Given the description of an element on the screen output the (x, y) to click on. 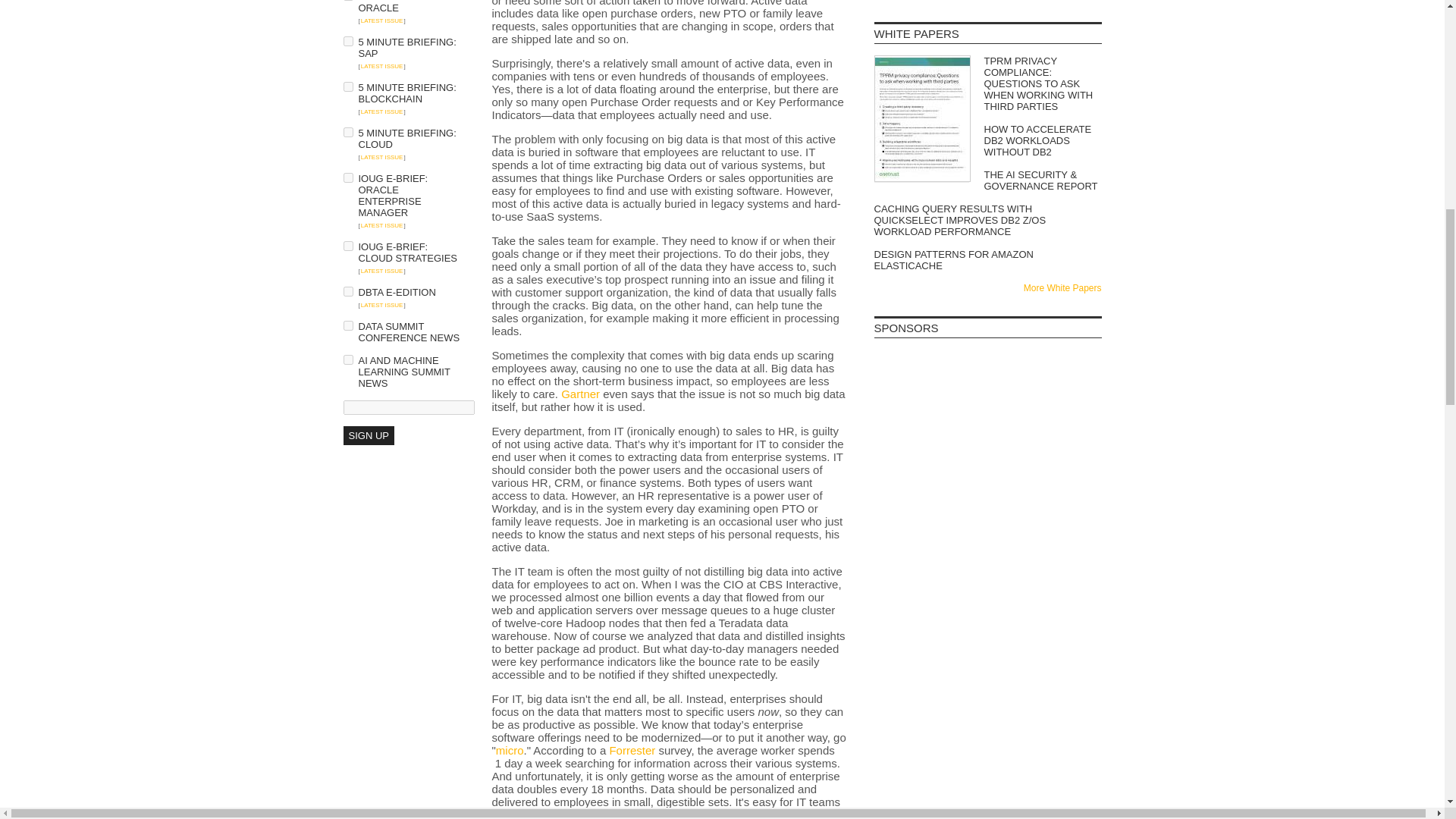
Design patterns for Amazon ElastiCache (986, 259)
on (347, 177)
on (347, 291)
on (347, 86)
on (347, 132)
How to Accelerate DB2 Workloads Without DB2 (986, 140)
Sign Up (367, 435)
on (347, 359)
on (347, 245)
on (347, 40)
on (347, 325)
